Given the description of an element on the screen output the (x, y) to click on. 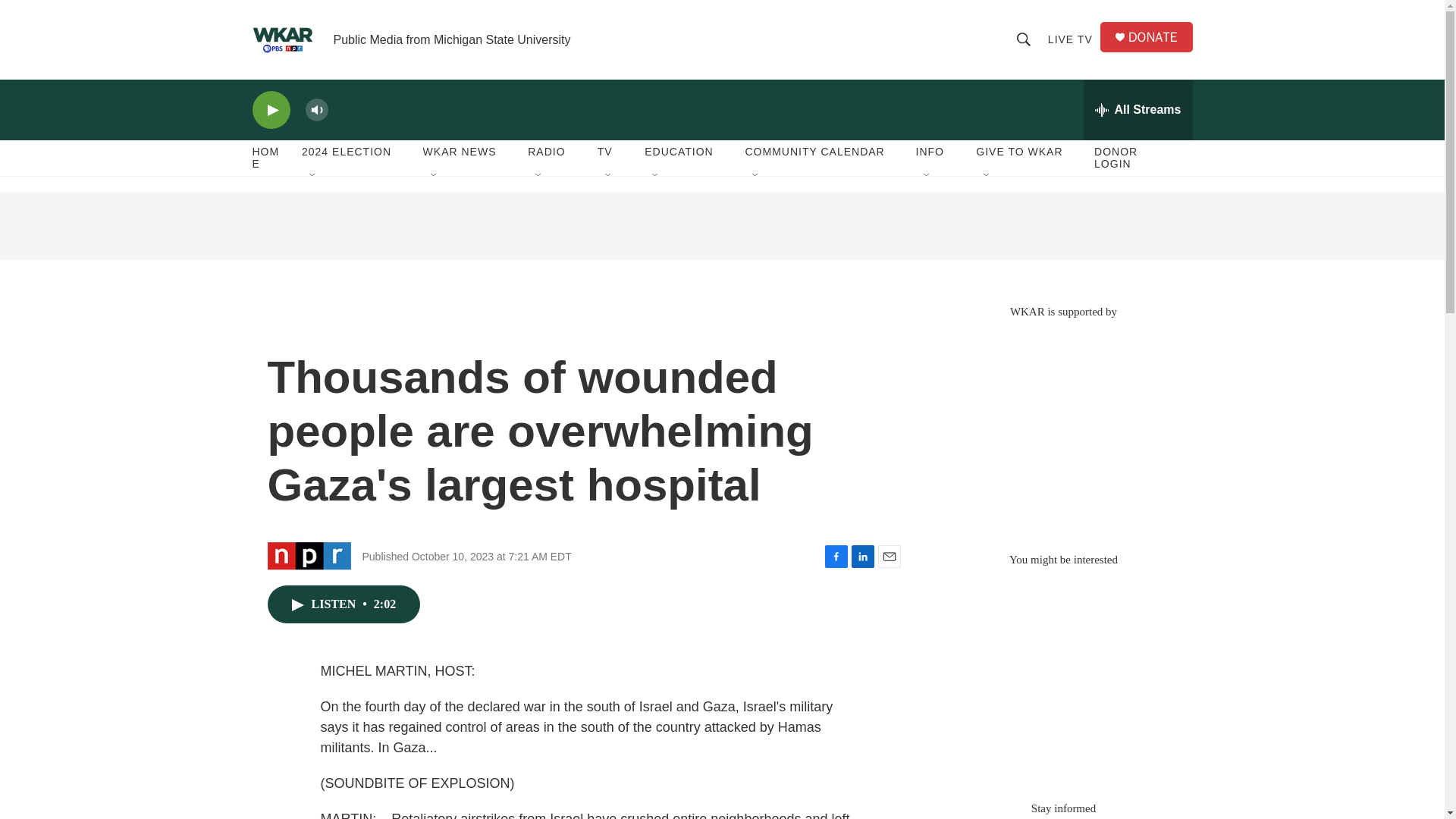
3rd party ad content (721, 225)
3rd party ad content (1062, 428)
3rd party ad content (1062, 677)
